Given the description of an element on the screen output the (x, y) to click on. 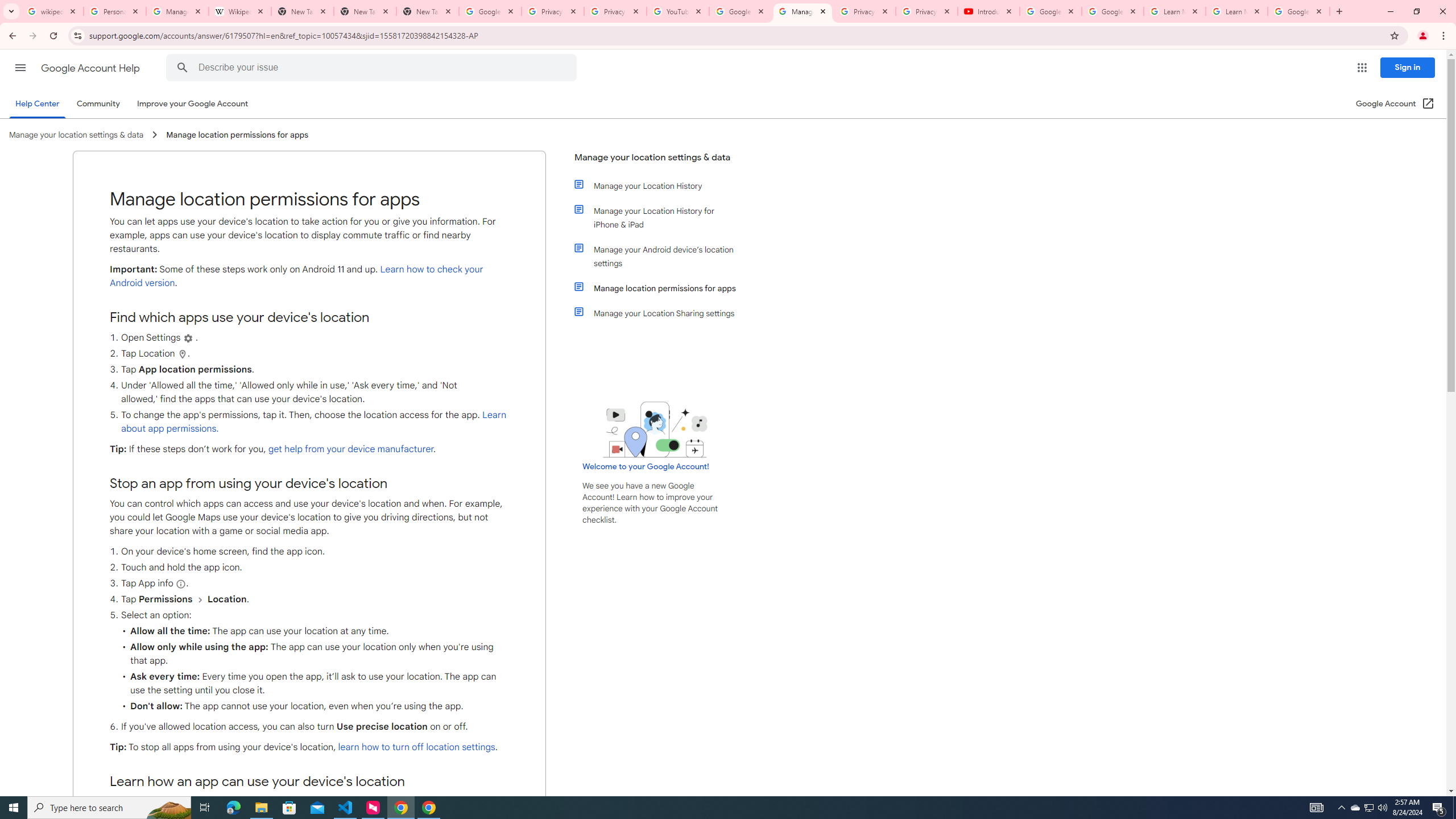
Manage location permissions for apps (661, 288)
Learn how to check your Android version (296, 276)
New Tab (427, 11)
Google Account Help (1111, 11)
Help Center (36, 103)
Manage your Location History for iPhone & iPad (661, 217)
Learn about app permissions. (313, 421)
